Given the description of an element on the screen output the (x, y) to click on. 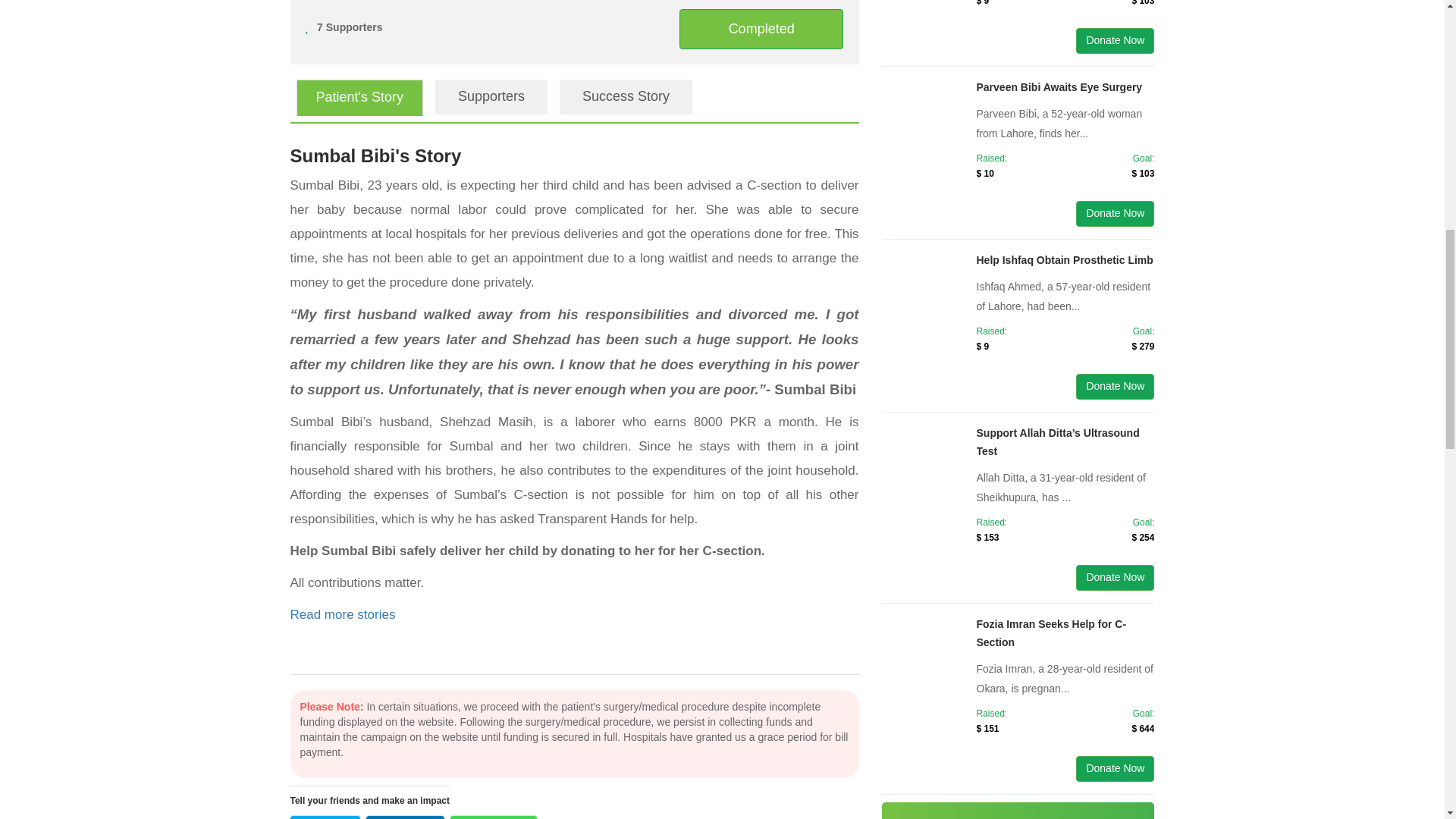
Click to share on Twitter (324, 817)
Completed (761, 28)
Success Story (626, 96)
Patient's Story (359, 97)
Click to share on LinkedIn (405, 817)
LinkedIn (405, 817)
Click to share on WhatsApp (493, 817)
WhatsApp (493, 817)
Supporters (491, 96)
Read more stories (341, 614)
Twitter (324, 817)
Completed (761, 29)
